Given the description of an element on the screen output the (x, y) to click on. 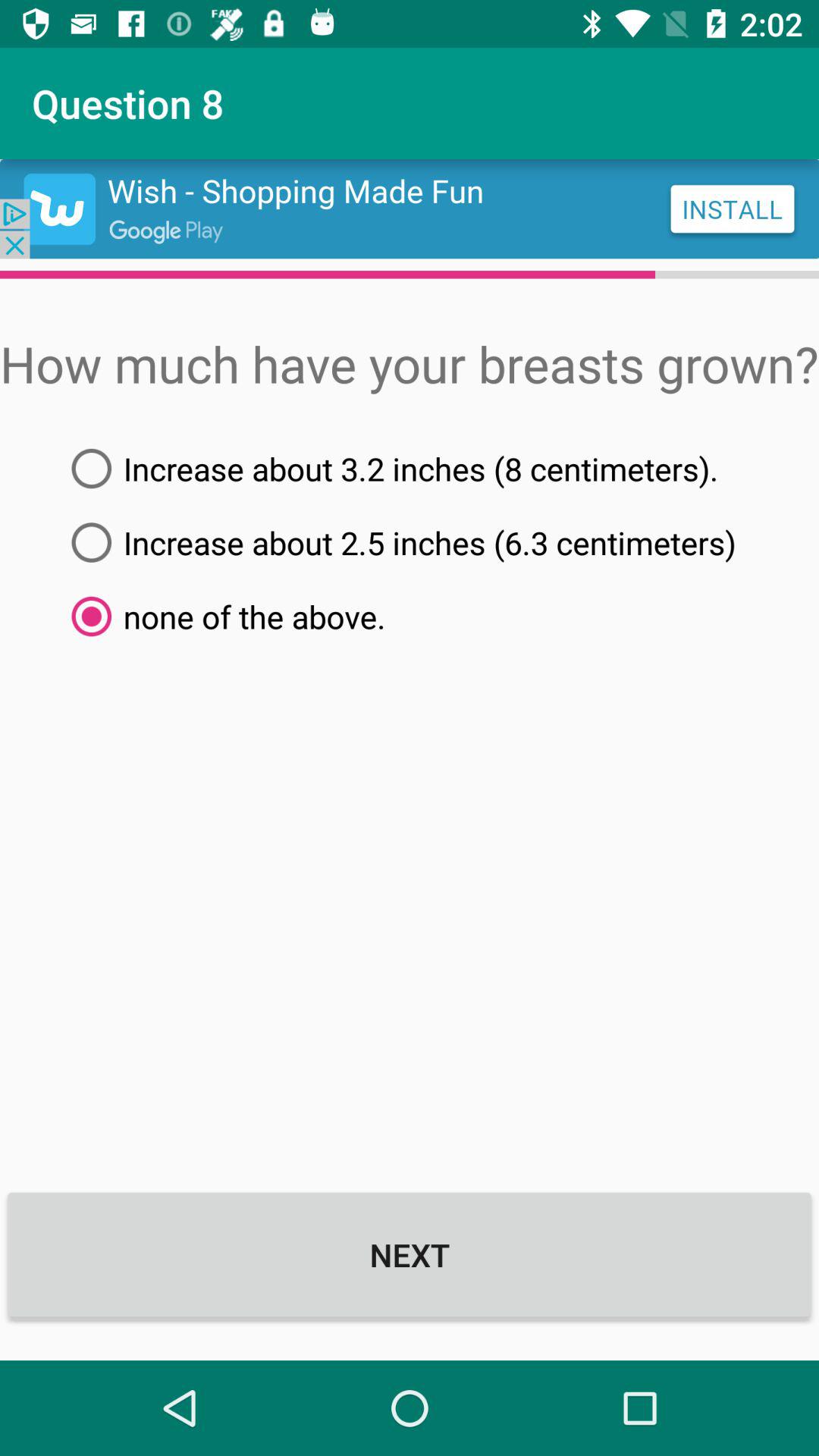
advertisement (409, 208)
